Given the description of an element on the screen output the (x, y) to click on. 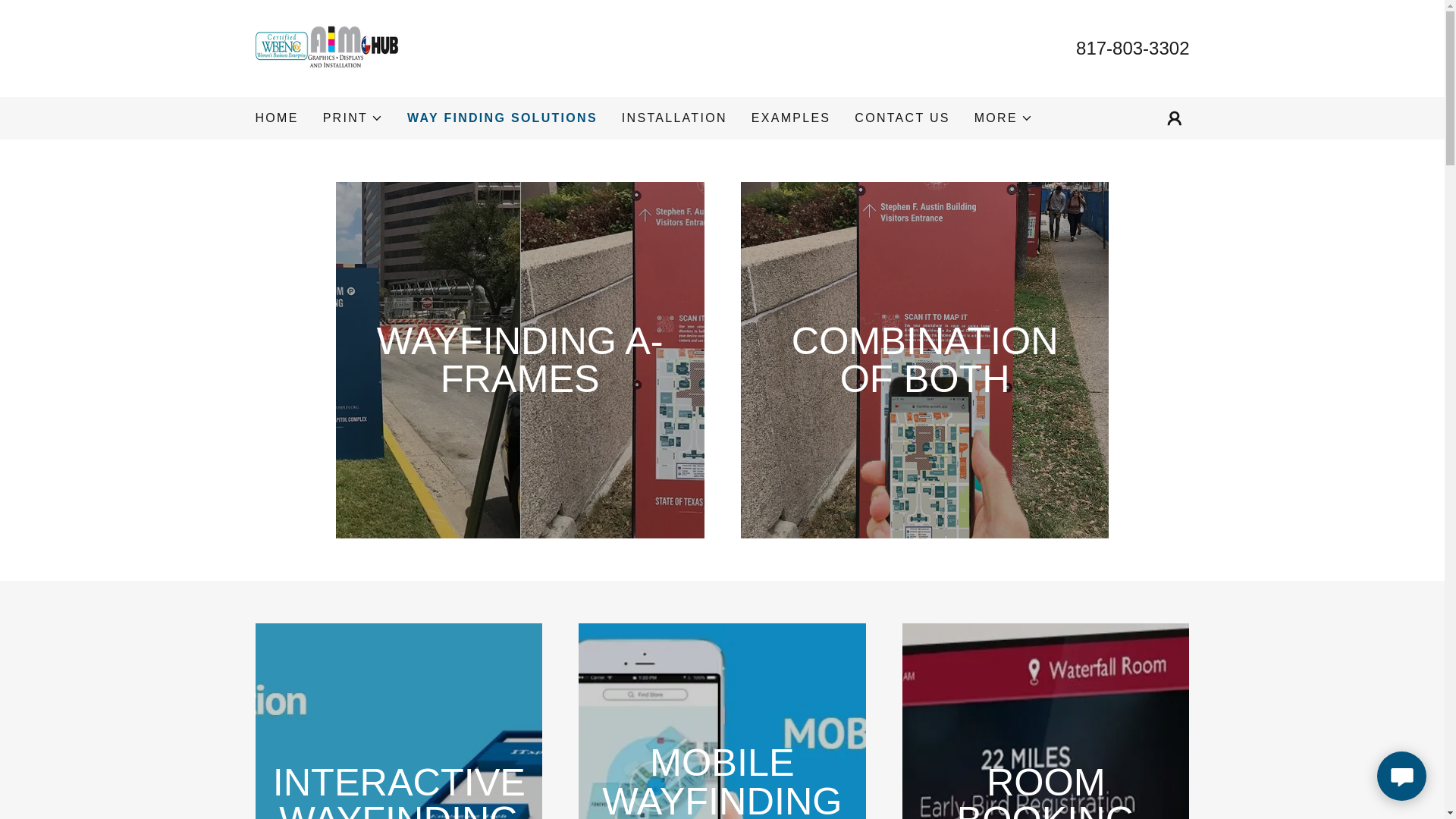
PRINT (352, 117)
AIM (327, 47)
MORE (1003, 117)
EXAMPLES (790, 117)
INSTALLATION (674, 117)
817-803-3302 (1132, 47)
HOME (276, 117)
WAY FINDING SOLUTIONS (501, 117)
CONTACT US (901, 117)
